Given the description of an element on the screen output the (x, y) to click on. 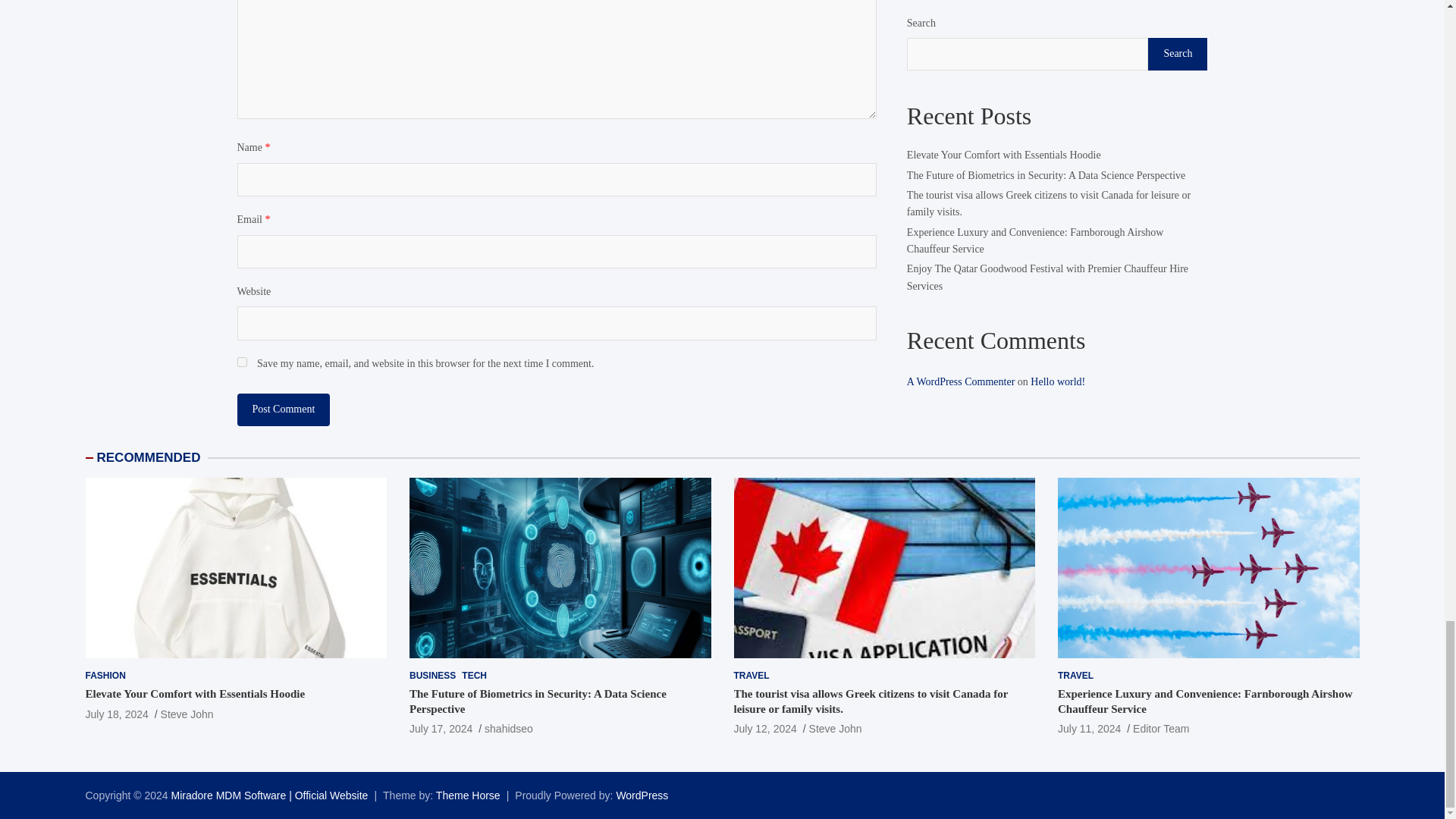
WordPress (641, 795)
RECOMMENDED (148, 457)
yes (240, 361)
Theme Horse (467, 795)
Elevate Your Comfort with Essentials Hoodie (194, 693)
FASHION (104, 676)
Post Comment (282, 409)
Elevate Your Comfort with Essentials Hoodie (116, 714)
Post Comment (282, 409)
